Given the description of an element on the screen output the (x, y) to click on. 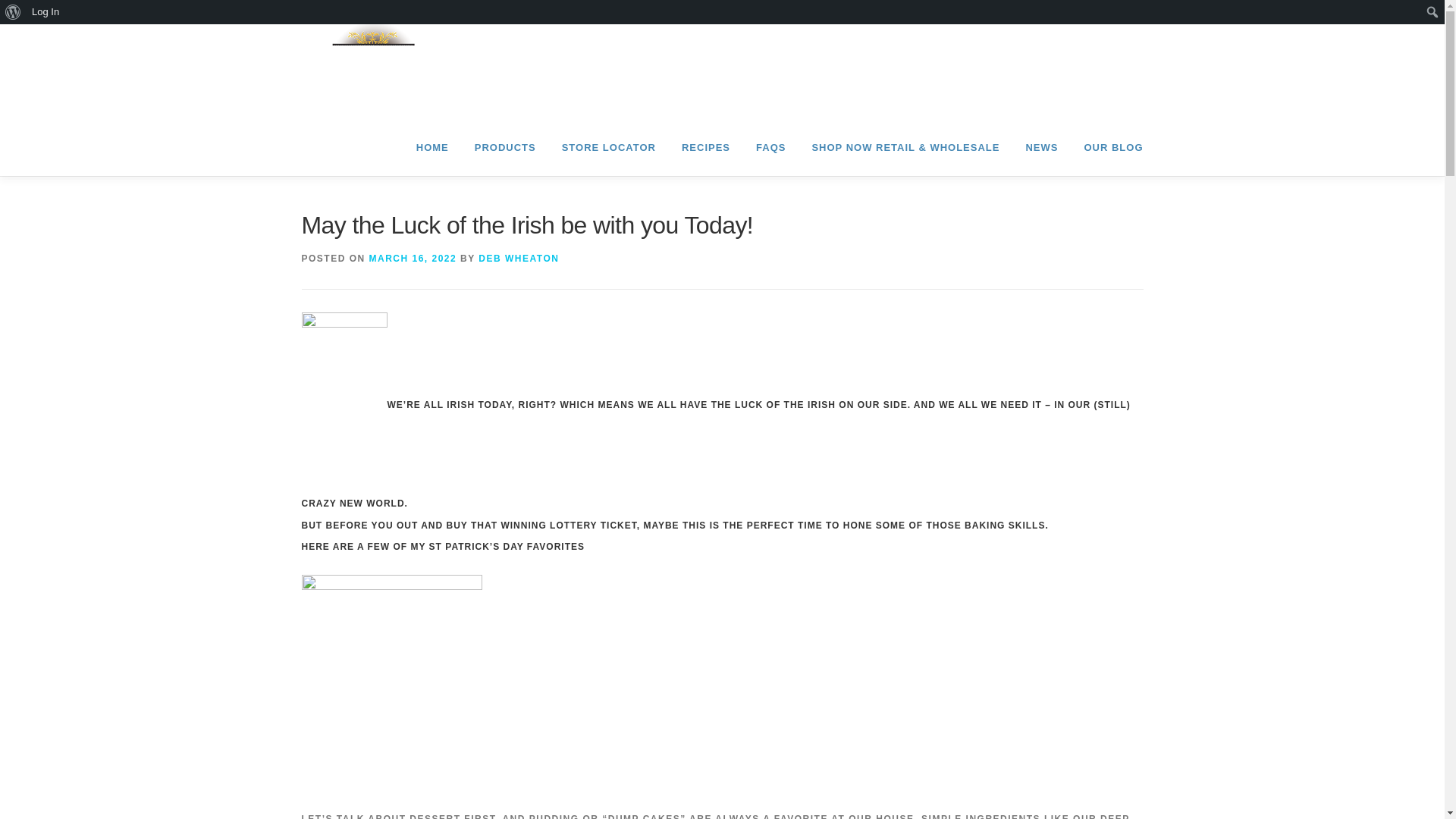
HOME (432, 147)
RECIPES (705, 147)
STORE LOCATOR (608, 147)
Search (15, 12)
FAQS (769, 147)
Log In (45, 12)
PRODUCTS (504, 147)
